Given the description of an element on the screen output the (x, y) to click on. 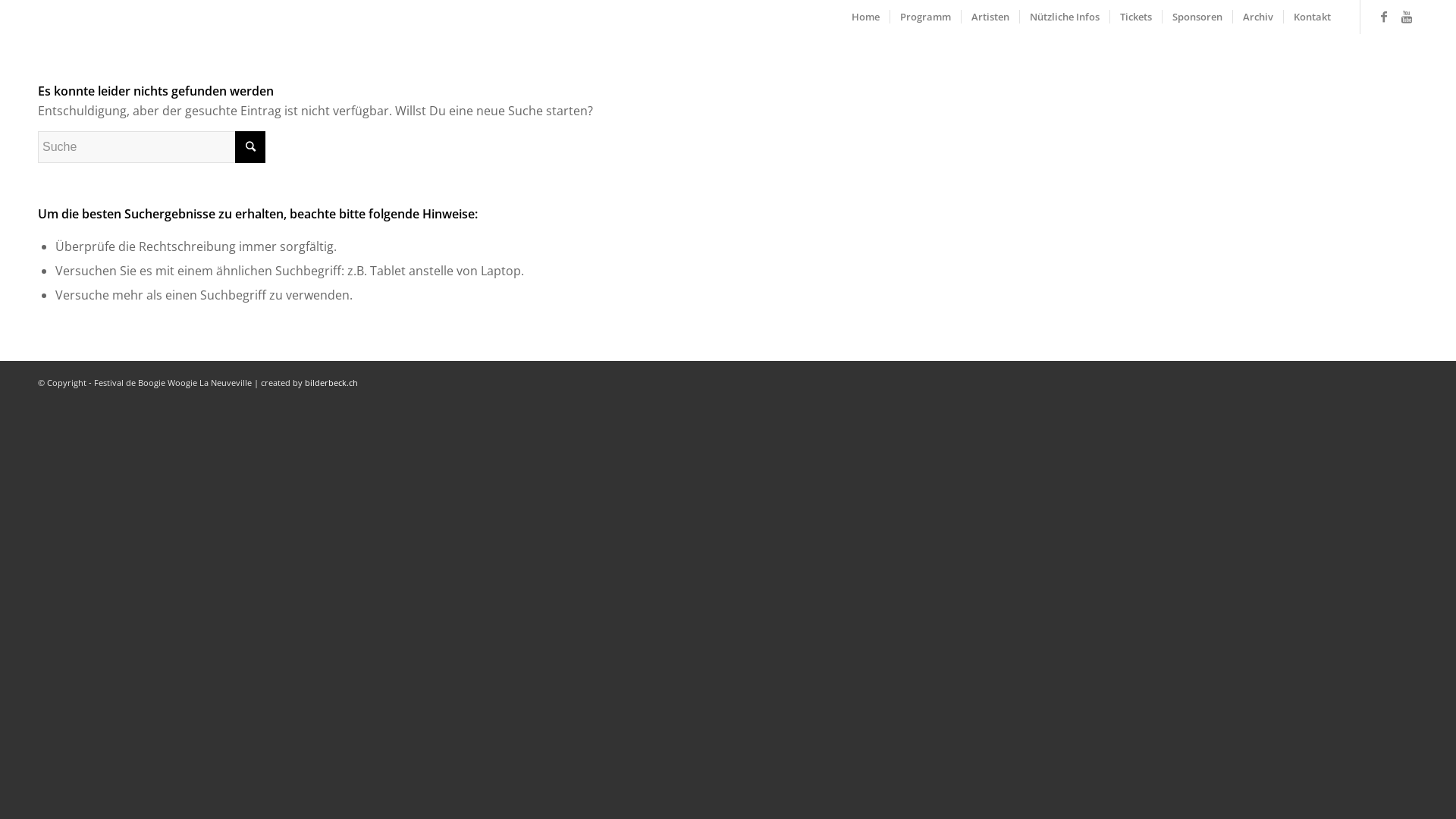
Home Element type: text (865, 17)
Archiv Element type: text (1257, 17)
Sponsoren Element type: text (1196, 17)
Programm Element type: text (924, 17)
Artisten Element type: text (989, 17)
Kontakt Element type: text (1311, 17)
Tickets Element type: text (1135, 17)
Youtube Element type: hover (1406, 15)
Facebook Element type: hover (1383, 15)
bilderbeck.ch Element type: text (330, 382)
